Given the description of an element on the screen output the (x, y) to click on. 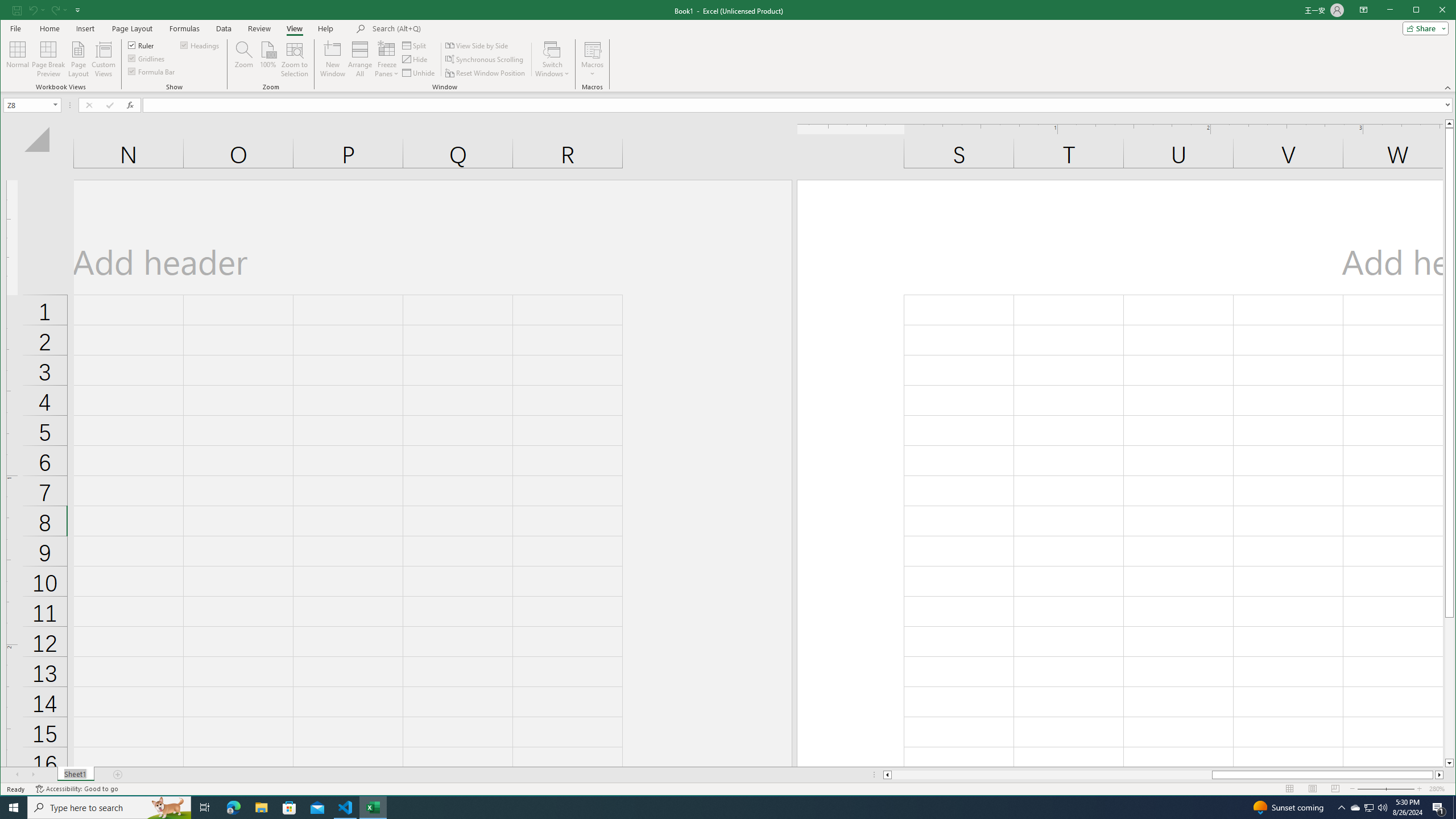
User Promoted Notification Area (1368, 807)
Sheet Tab (75, 774)
Start (13, 807)
Reset Window Position (1355, 807)
Action Center, 1 new notification (486, 72)
View Side by Side (1439, 807)
Notification Chevron (478, 45)
